Given the description of an element on the screen output the (x, y) to click on. 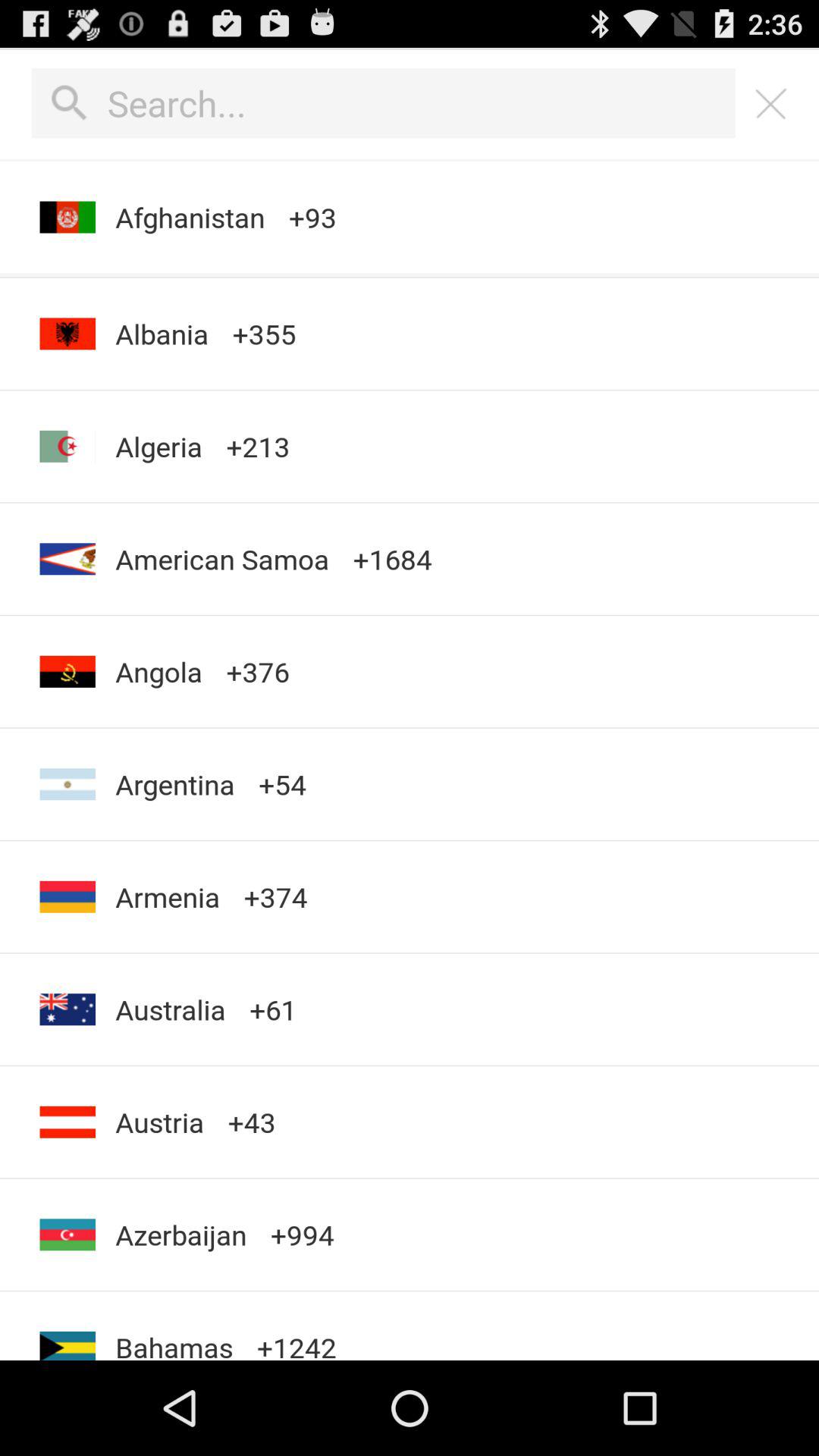
select icon below austria app (180, 1234)
